Given the description of an element on the screen output the (x, y) to click on. 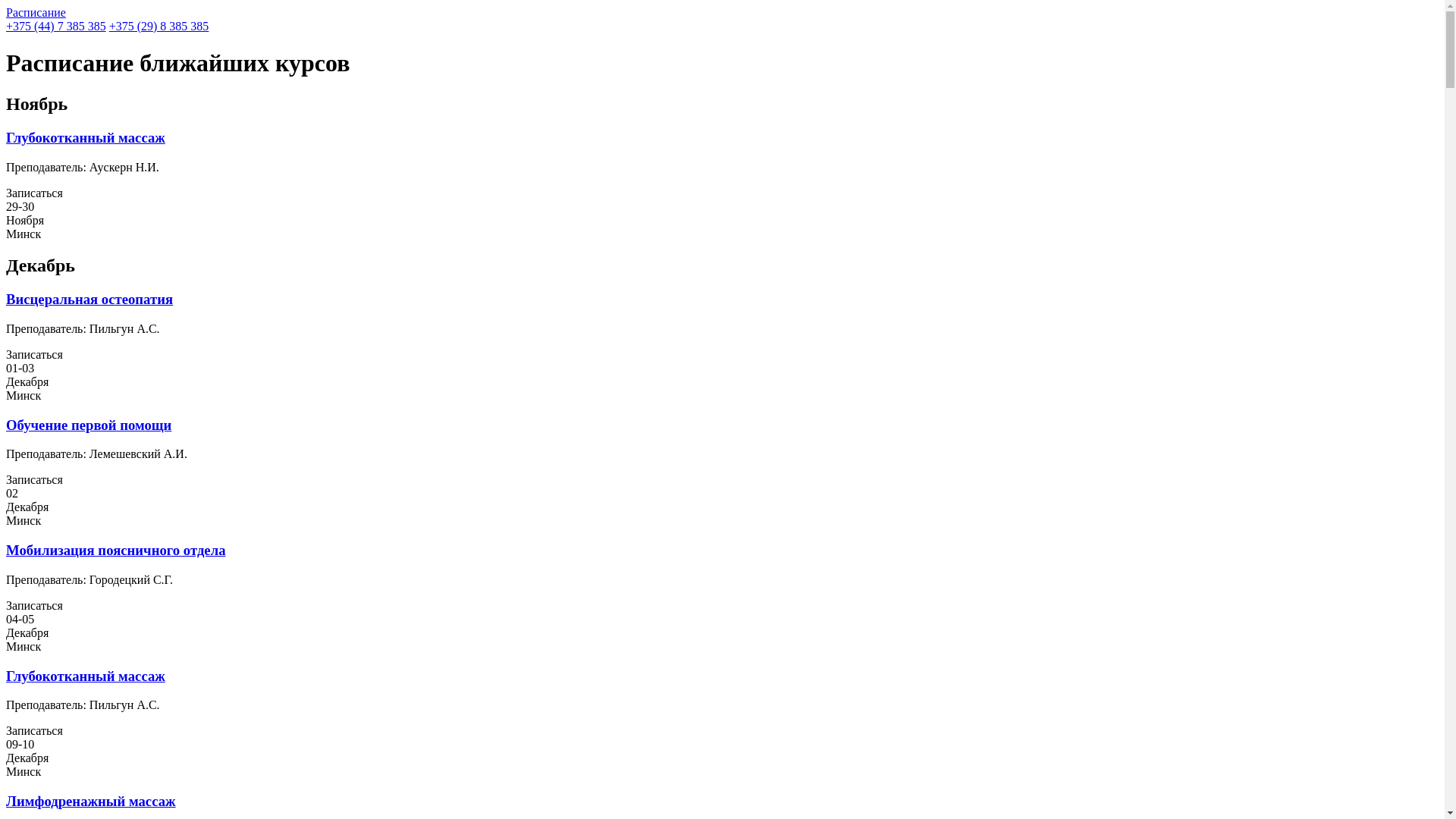
+375 (29) 8 385 385 Element type: text (159, 25)
+375 (44) 7 385 385 Element type: text (56, 25)
